Given the description of an element on the screen output the (x, y) to click on. 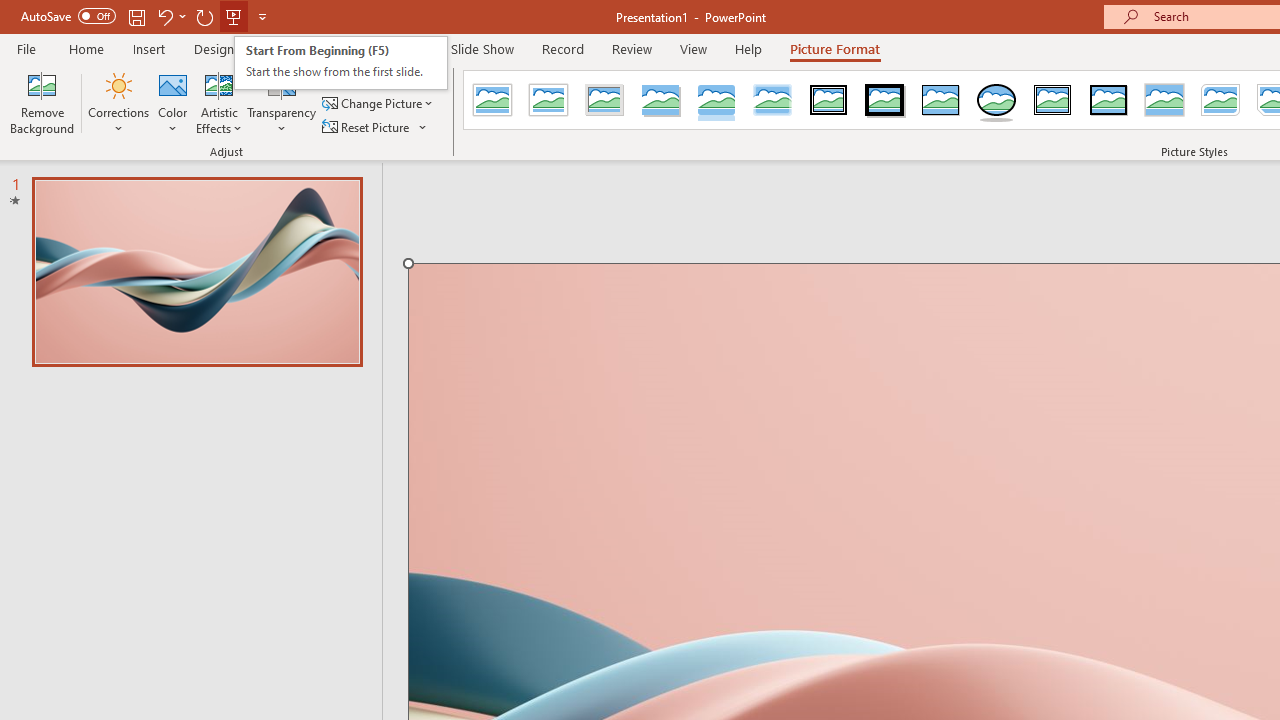
Beveled Matte, White (548, 100)
Design (214, 48)
Double Frame, Black (829, 100)
Quick Access Toolbar (145, 16)
Reflected Rounded Rectangle (716, 100)
From Beginning (234, 15)
More Options (424, 126)
Review (631, 48)
Undo (164, 15)
Home (86, 48)
Compound Frame, Black (1053, 100)
Slide Show (481, 48)
Soft Edge Rectangle (772, 100)
Simple Frame, White (492, 100)
Thick Matte, Black (884, 100)
